Given the description of an element on the screen output the (x, y) to click on. 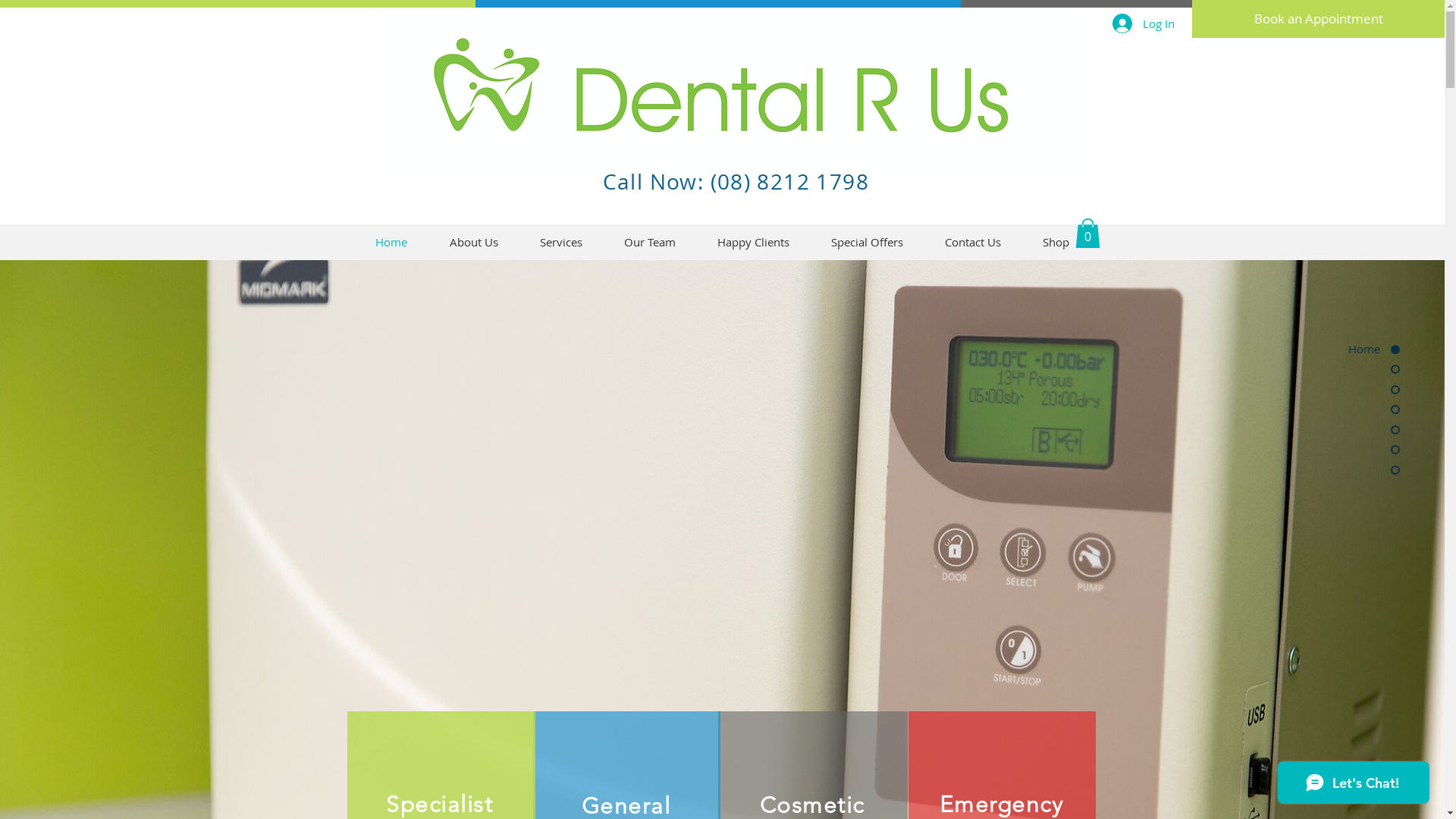
Call Now: (08) 8212 1798  Element type: text (738, 181)
Special Offers Element type: text (866, 241)
Contact Us Element type: text (972, 241)
Services Element type: text (560, 241)
Home Element type: text (390, 241)
Home Element type: text (1342, 349)
Our Team Element type: text (649, 241)
0 Element type: text (1087, 232)
Book an Appointment Element type: text (1318, 18)
Log In Element type: text (1142, 23)
Shop Element type: text (1056, 241)
Specialist Element type: text (438, 804)
Happy Clients Element type: text (752, 241)
About Us Element type: text (472, 241)
Emergency Element type: text (1001, 804)
